Given the description of an element on the screen output the (x, y) to click on. 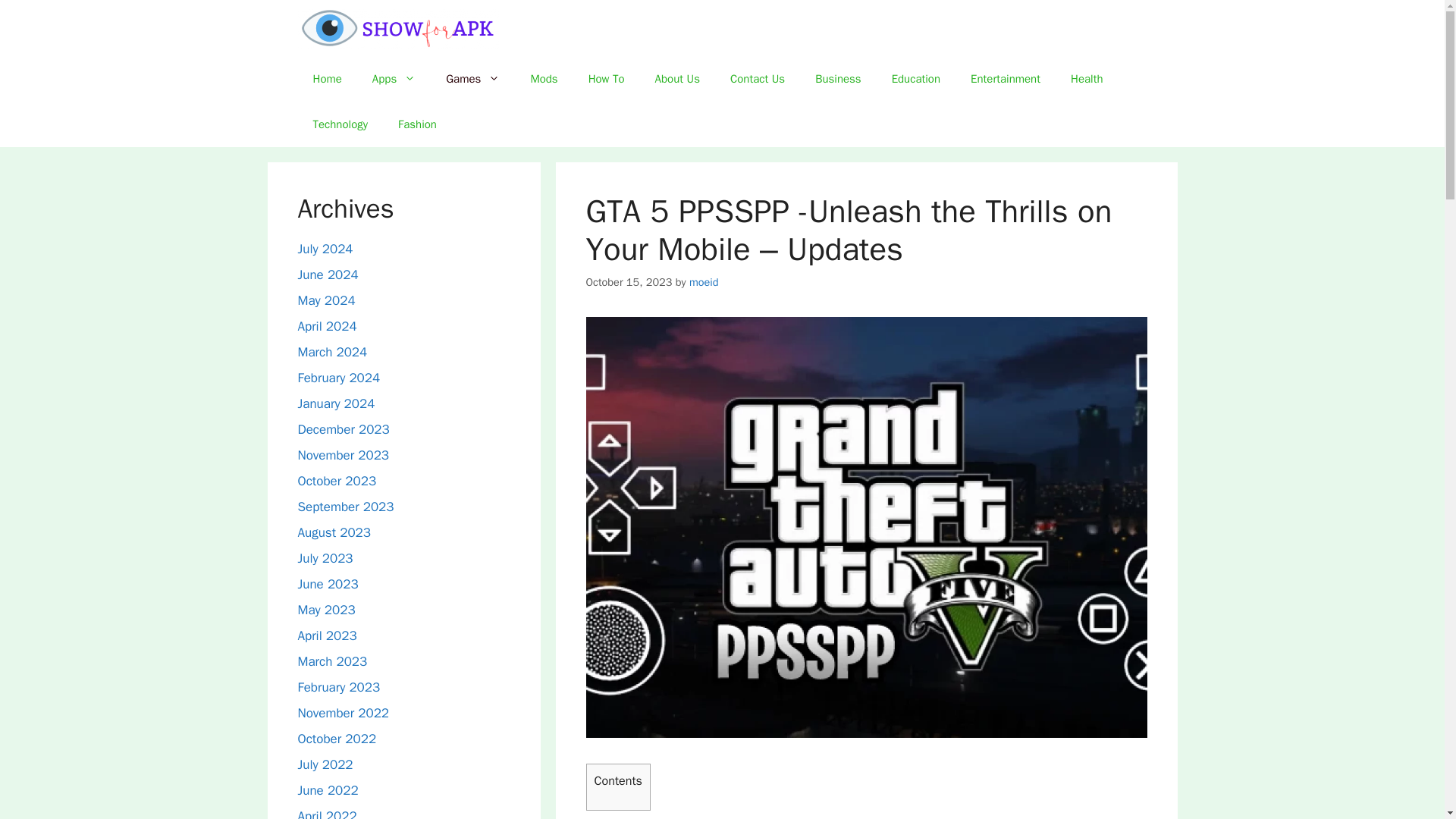
View all posts by moeid (703, 282)
How To (606, 78)
Fashion (416, 124)
Business (837, 78)
Health (1086, 78)
Entertainment (1005, 78)
Home (326, 78)
moeid (703, 282)
Technology (339, 124)
Education (915, 78)
Mods (543, 78)
Games (472, 78)
About Us (677, 78)
Contact Us (756, 78)
Apps (393, 78)
